Given the description of an element on the screen output the (x, y) to click on. 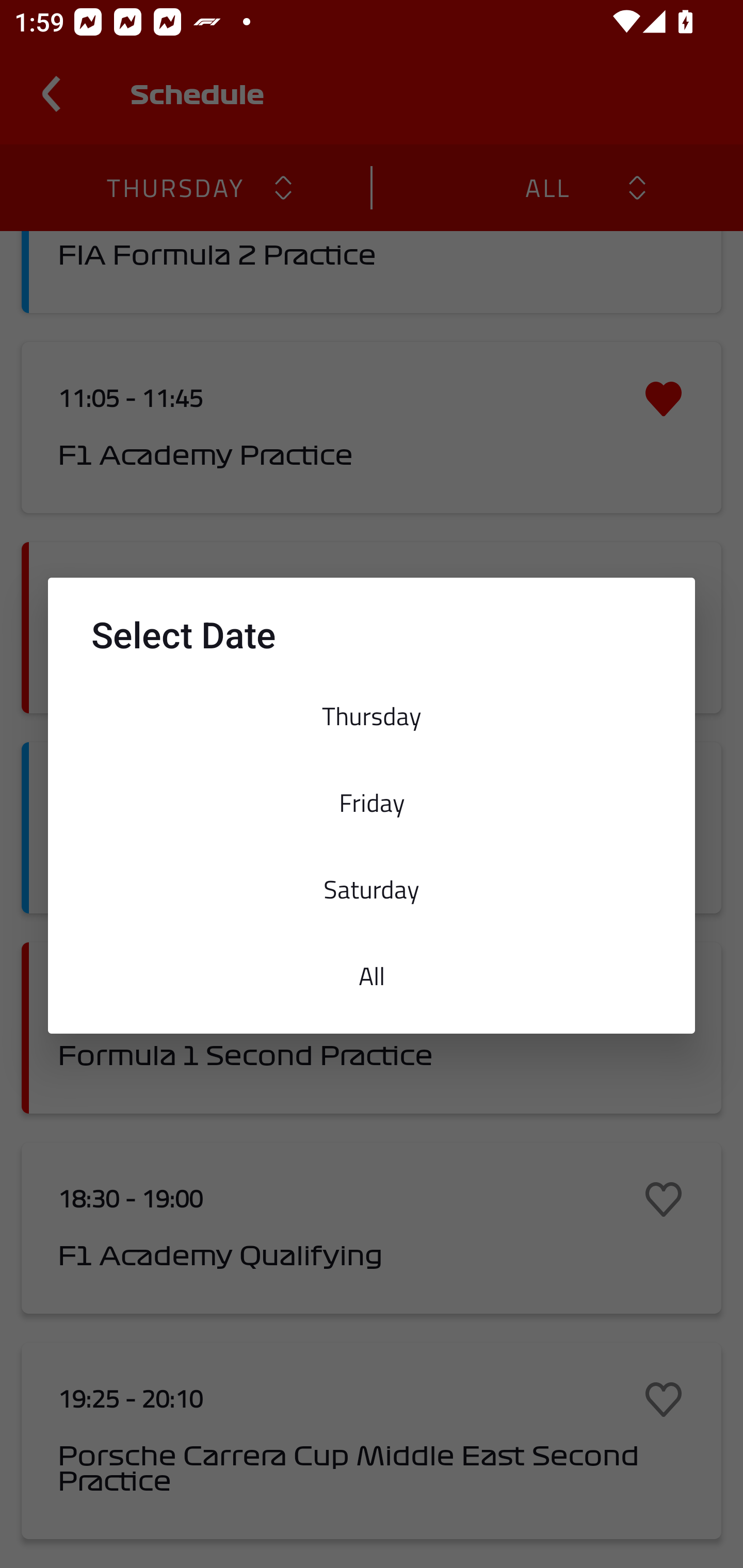
Thursday (371, 715)
Friday (371, 801)
Saturday (371, 888)
All (371, 975)
